Given the description of an element on the screen output the (x, y) to click on. 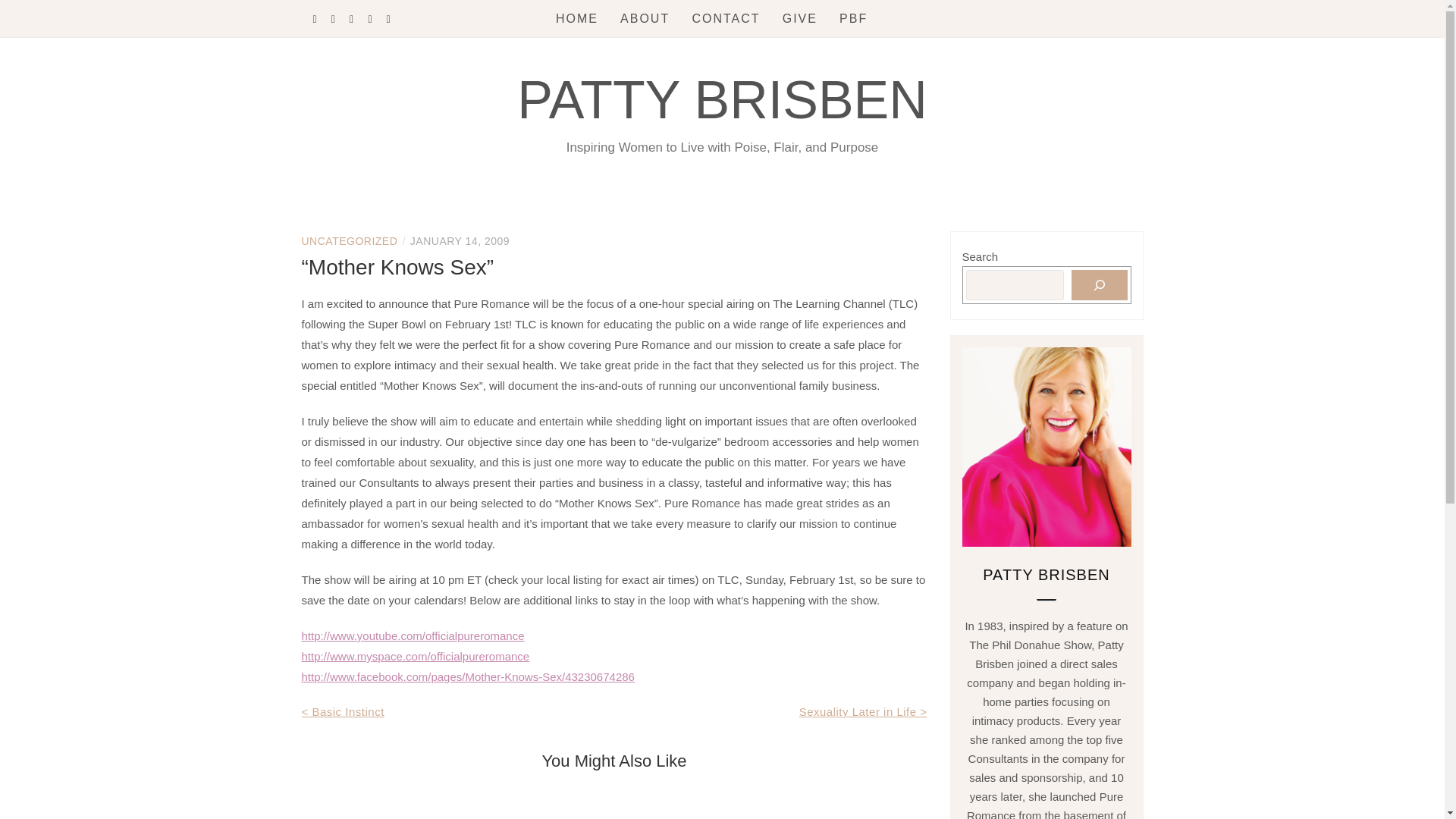
HOME (577, 18)
CONTACT (725, 18)
GIVE (799, 18)
ABOUT (644, 18)
PATTY BRISBEN (721, 99)
UNCATEGORIZED (349, 241)
